Given the description of an element on the screen output the (x, y) to click on. 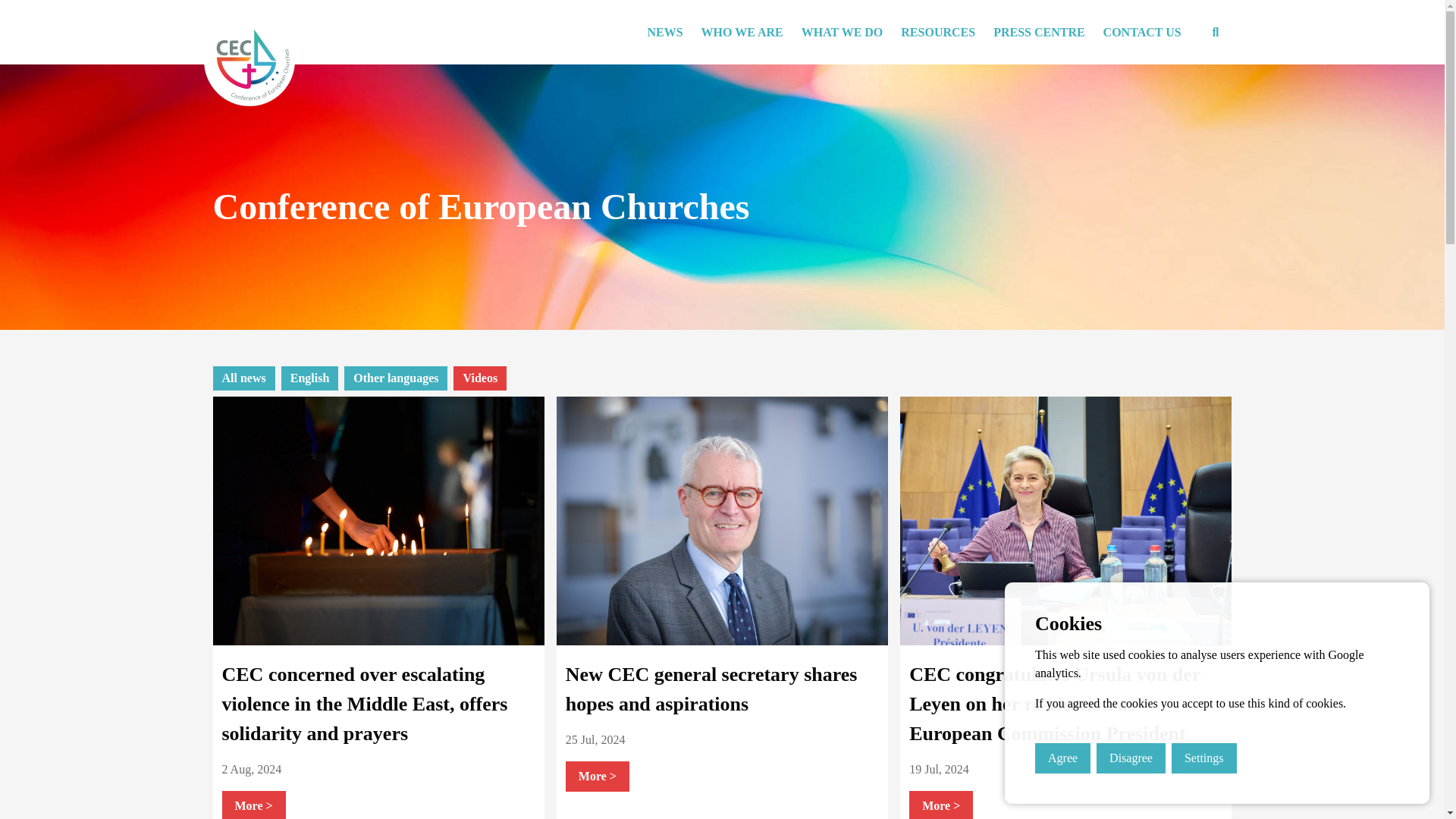
WHAT WE DO (842, 32)
CONTACT US (1142, 32)
English (309, 378)
New CEC general secretary shares hopes and aspirations (711, 688)
RESOURCES (937, 32)
WHO WE ARE (742, 32)
PRESS CENTRE (1038, 32)
Other languages (395, 378)
